Given the description of an element on the screen output the (x, y) to click on. 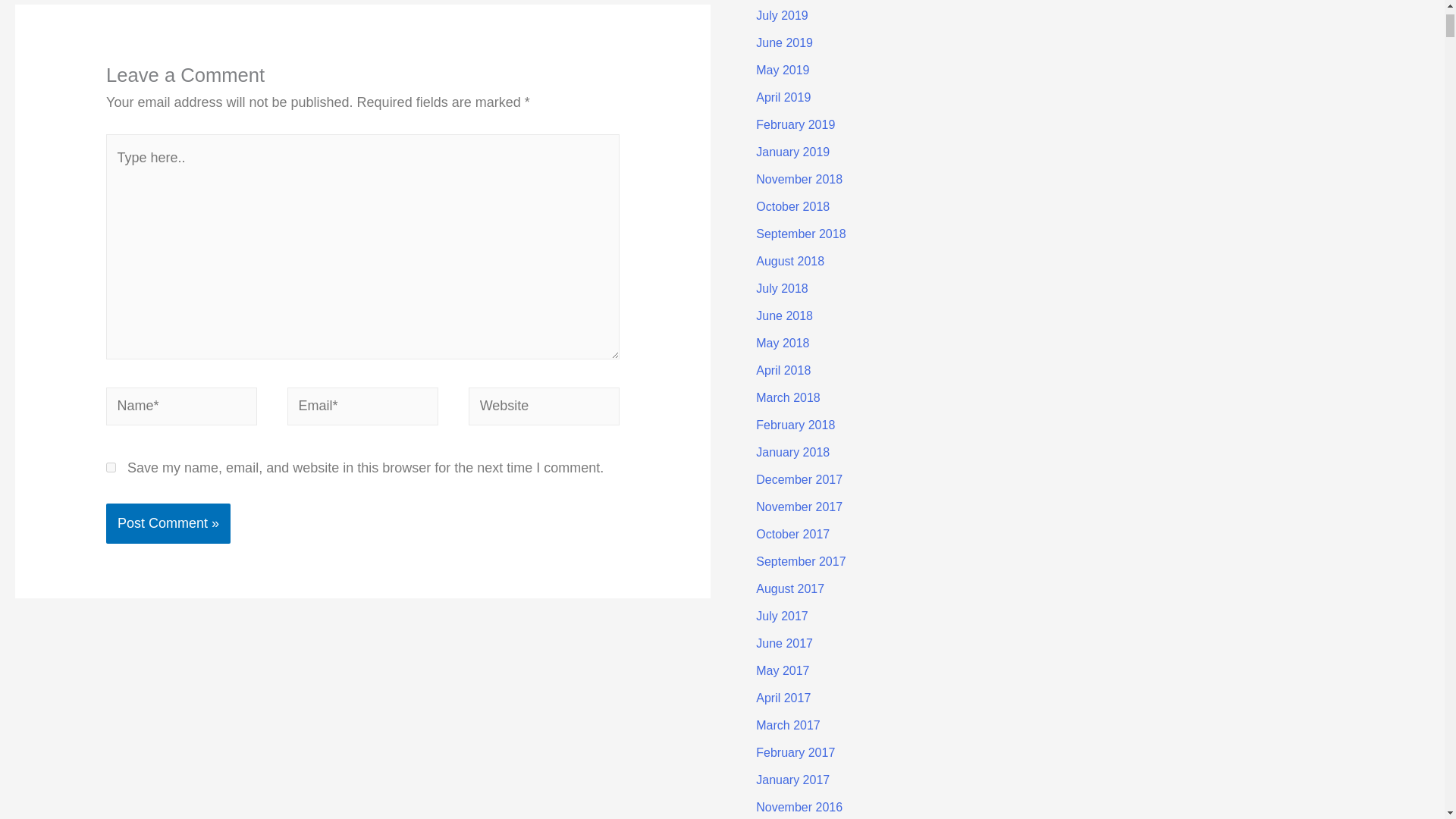
yes (111, 467)
